Given the description of an element on the screen output the (x, y) to click on. 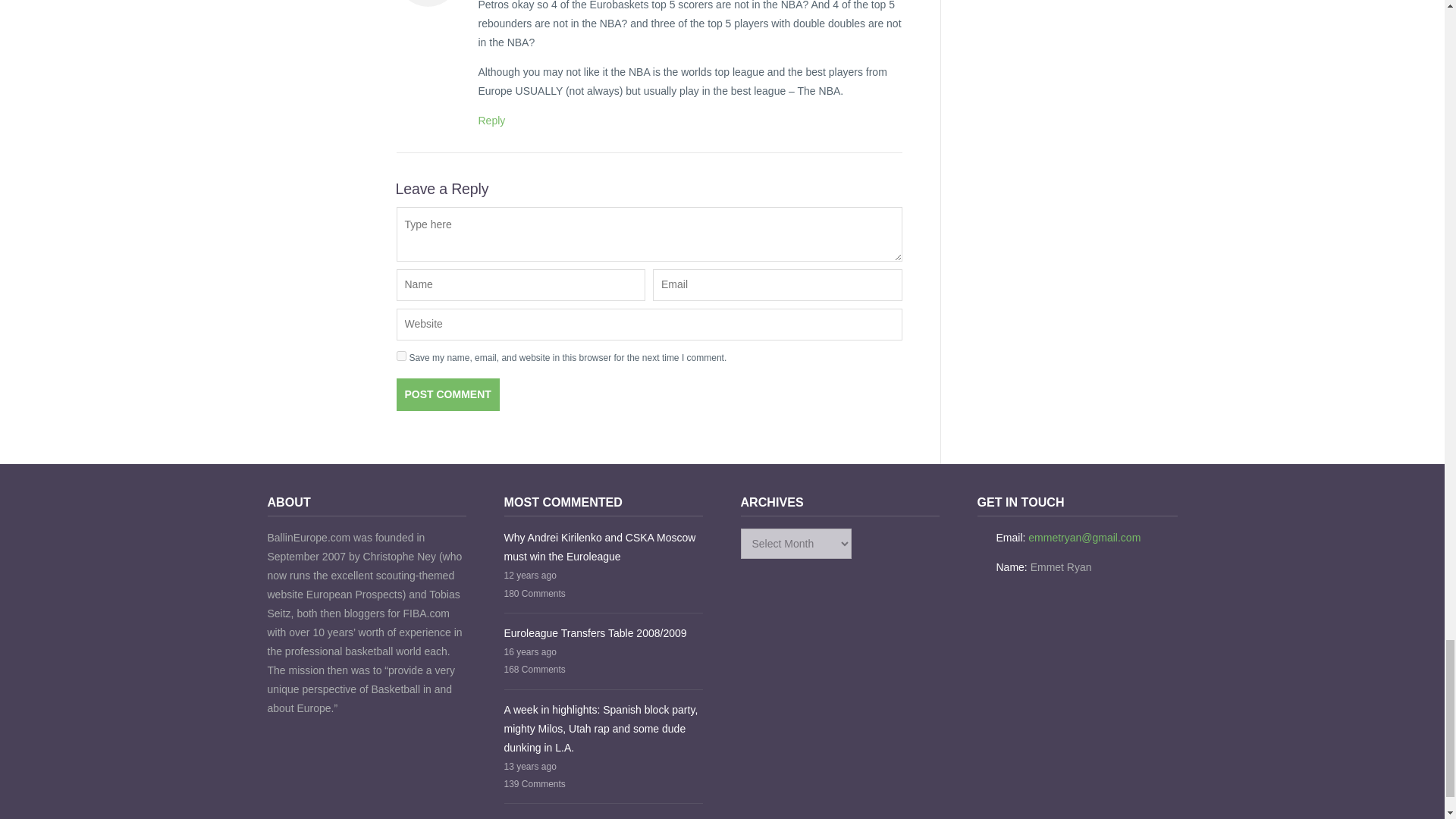
8001 (491, 120)
Post Comment (447, 394)
yes (401, 356)
